Given the description of an element on the screen output the (x, y) to click on. 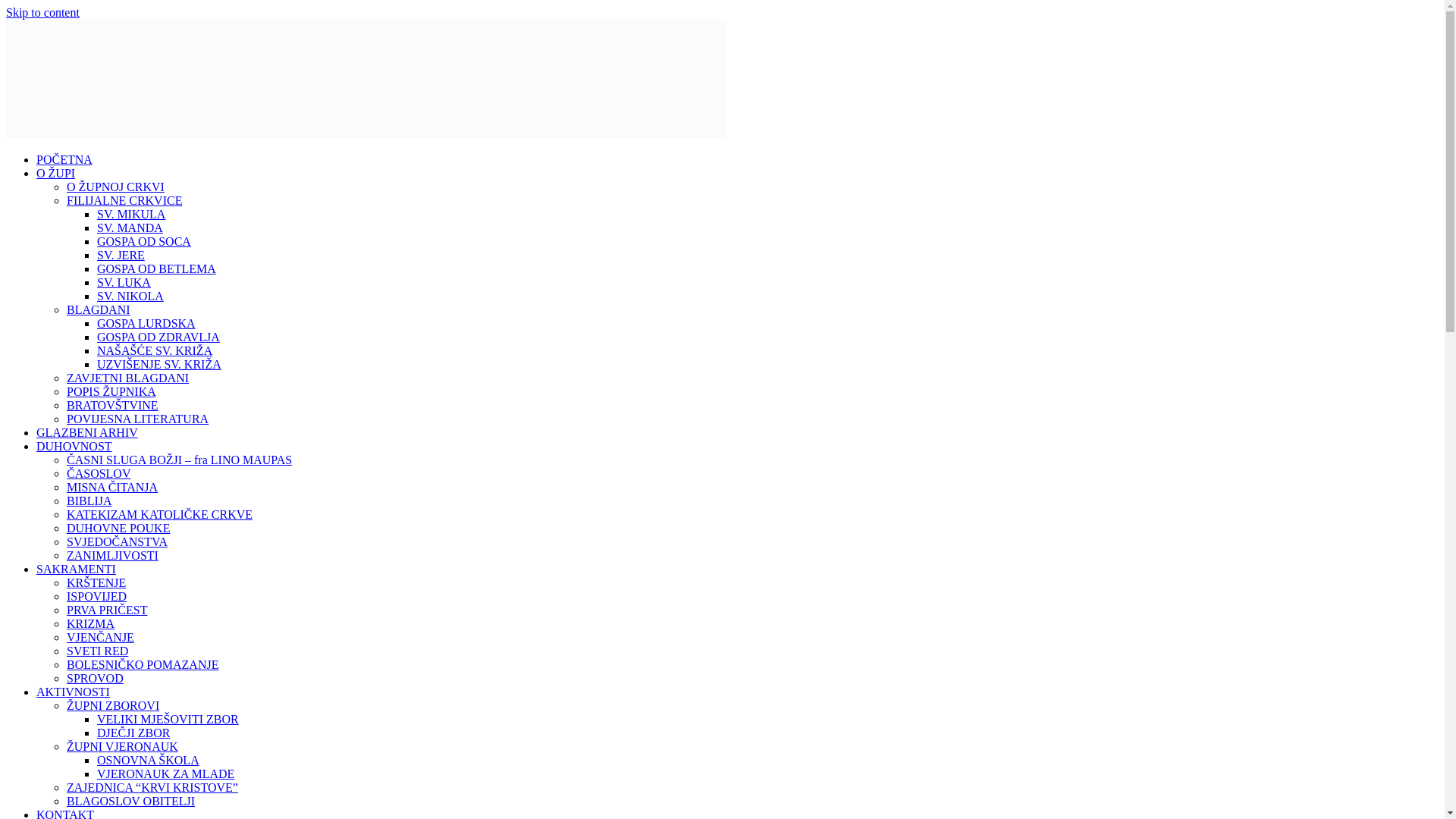
GOSPA OD BETLEMA (156, 268)
SV. NIKOLA (130, 295)
ISPOVIJED (96, 595)
SV. MIKULA (131, 214)
SV. LUKA (124, 282)
ZAVJETNI BLAGDANI (127, 377)
SV. MANDA (130, 227)
GOSPA OD SOCA (143, 241)
SVETI RED (97, 650)
POVIJESNA LITERATURA (137, 418)
DUHOVNOST (74, 445)
BIBLIJA (89, 500)
DUHOVNE POUKE (118, 527)
GOSPA LURDSKA (146, 323)
BLAGDANI (98, 309)
